Given the description of an element on the screen output the (x, y) to click on. 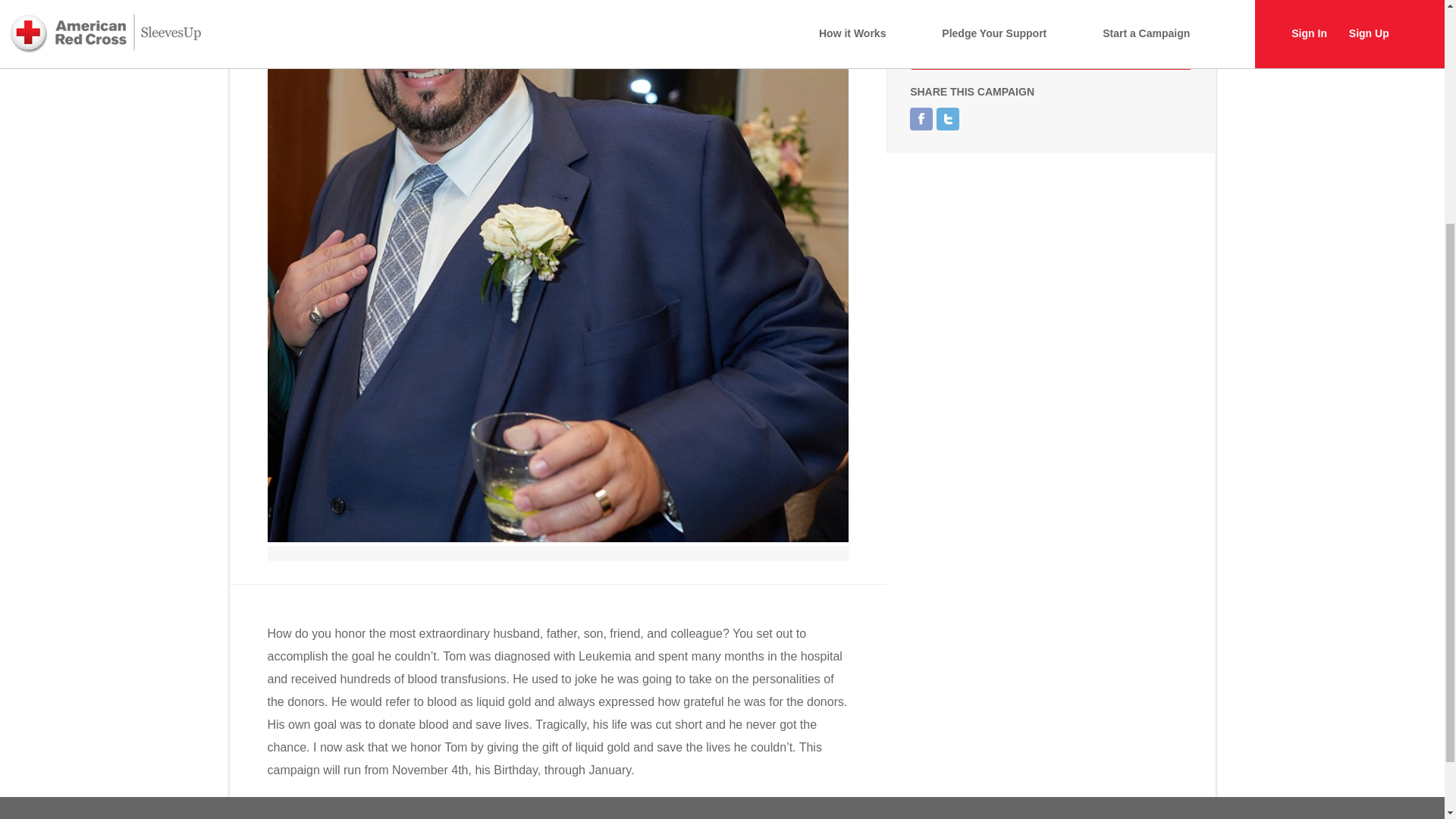
PLEDGE TO GIVE BLOOD (1051, 46)
